Given the description of an element on the screen output the (x, y) to click on. 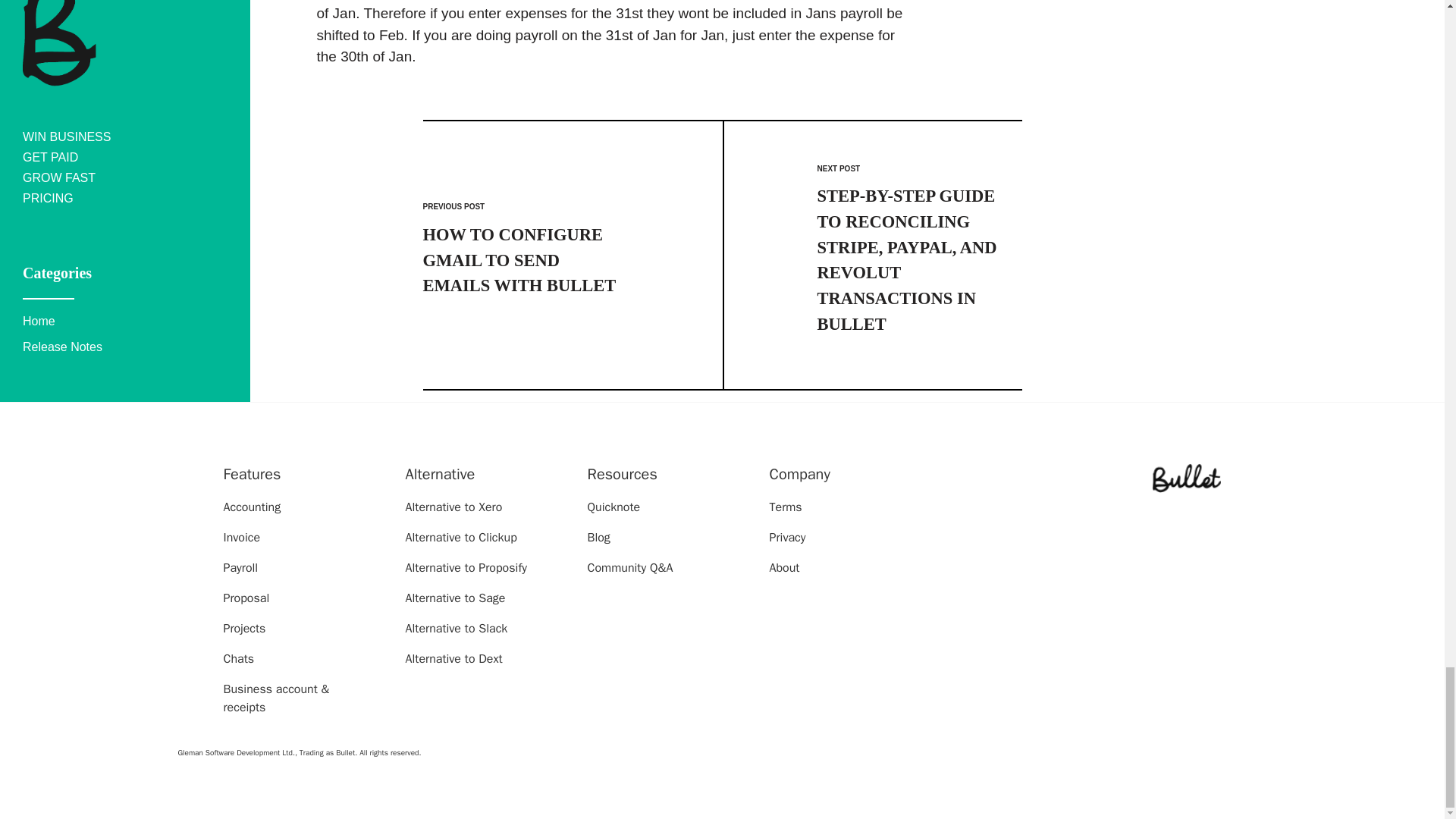
Invoice (241, 537)
Payroll (239, 567)
Projects (243, 628)
Alternative to Xero (453, 507)
Blog (598, 537)
Alternative to Slack (455, 628)
Chats (237, 658)
Alternative to Sage (454, 598)
Alternative to Proposify (464, 567)
Proposal (245, 598)
Alternative to Clickup (460, 537)
Alternative to Dext (453, 658)
Accounting (251, 507)
Quicknote (613, 507)
